Given the description of an element on the screen output the (x, y) to click on. 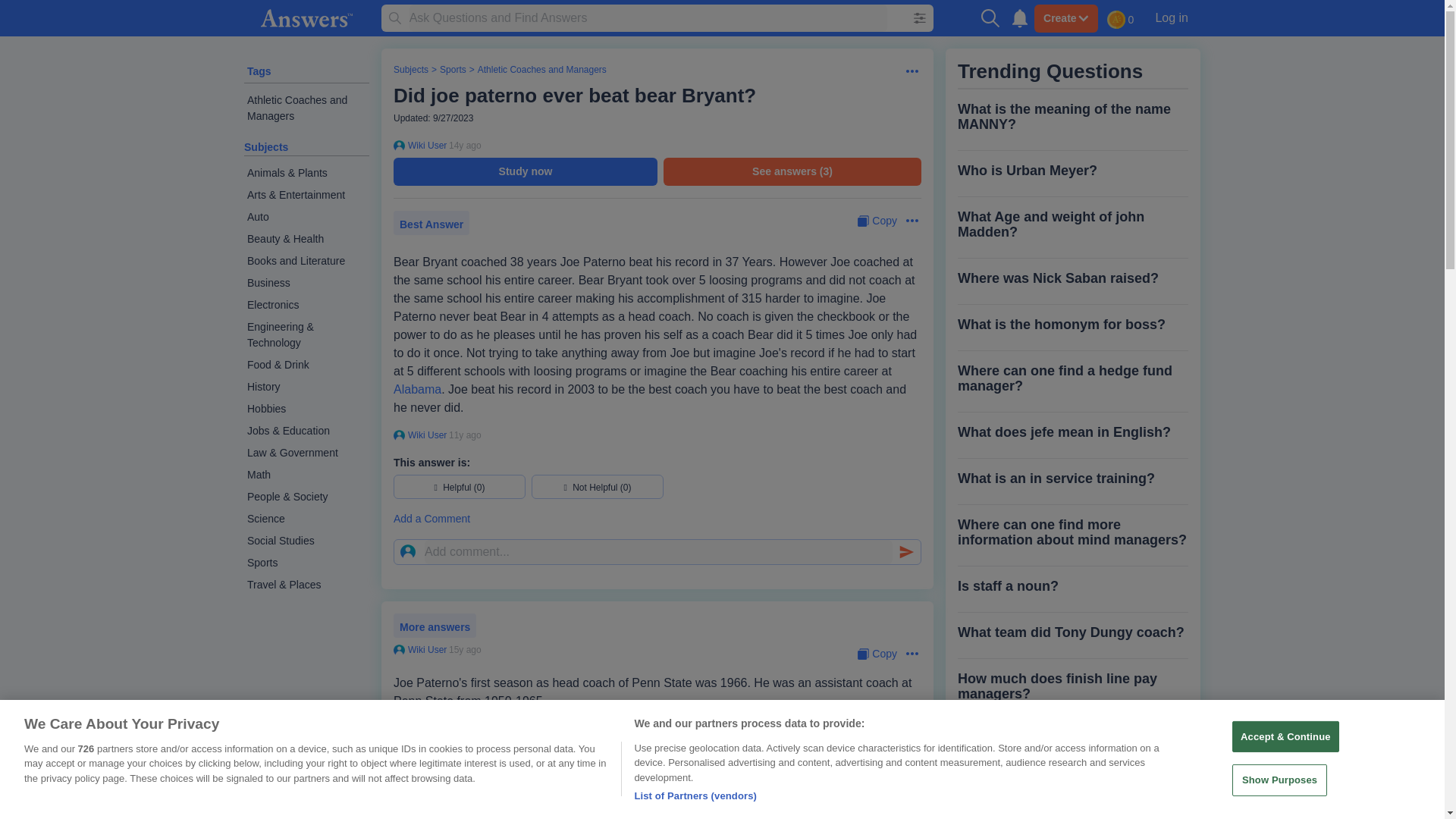
Science (306, 518)
Create (1065, 18)
Athletic Coaches and Managers (306, 108)
Hobbies (306, 409)
History (306, 386)
Alabama (417, 389)
Books and Literature (306, 260)
Study now (525, 171)
Auto (306, 217)
2013-01-18 03:43:50 (464, 434)
